Given the description of an element on the screen output the (x, y) to click on. 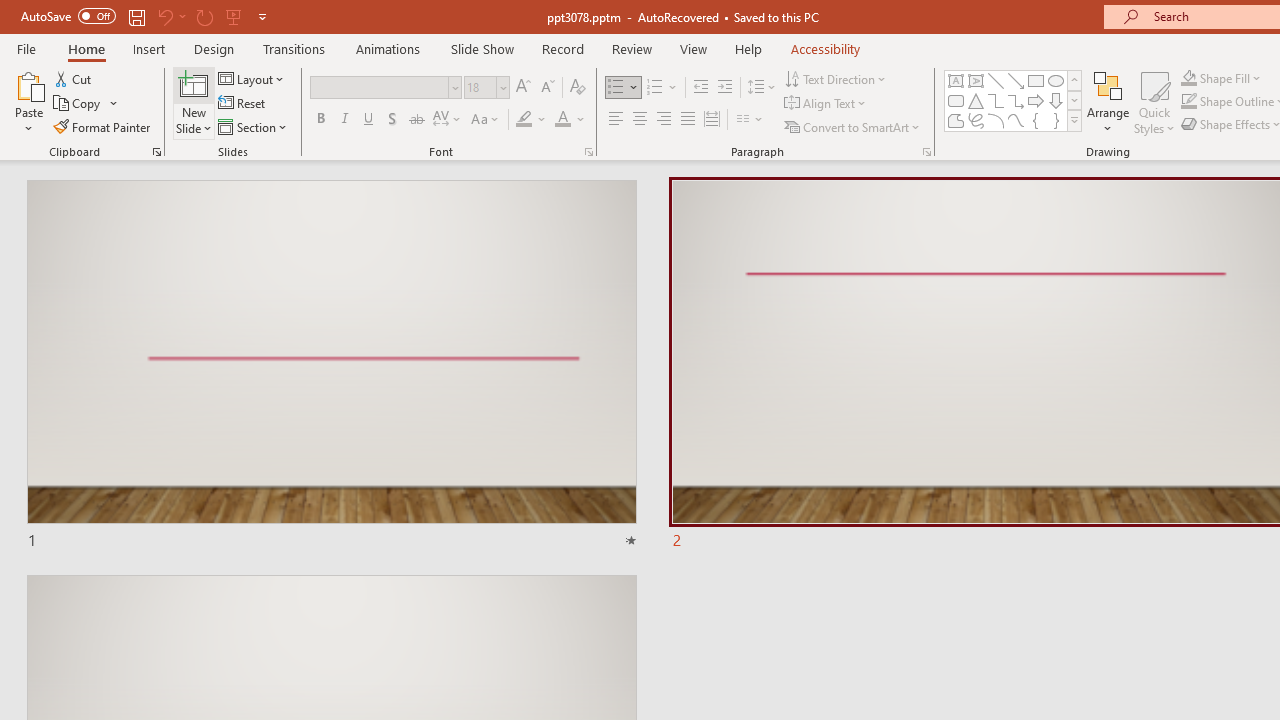
AutomationID: ShapesInsertGallery (1014, 100)
Isosceles Triangle (975, 100)
Text Direction (836, 78)
Shadow (392, 119)
Shape Outline Green, Accent 1 (1188, 101)
Freeform: Scribble (975, 120)
Italic (344, 119)
Line Spacing (762, 87)
